Given the description of an element on the screen output the (x, y) to click on. 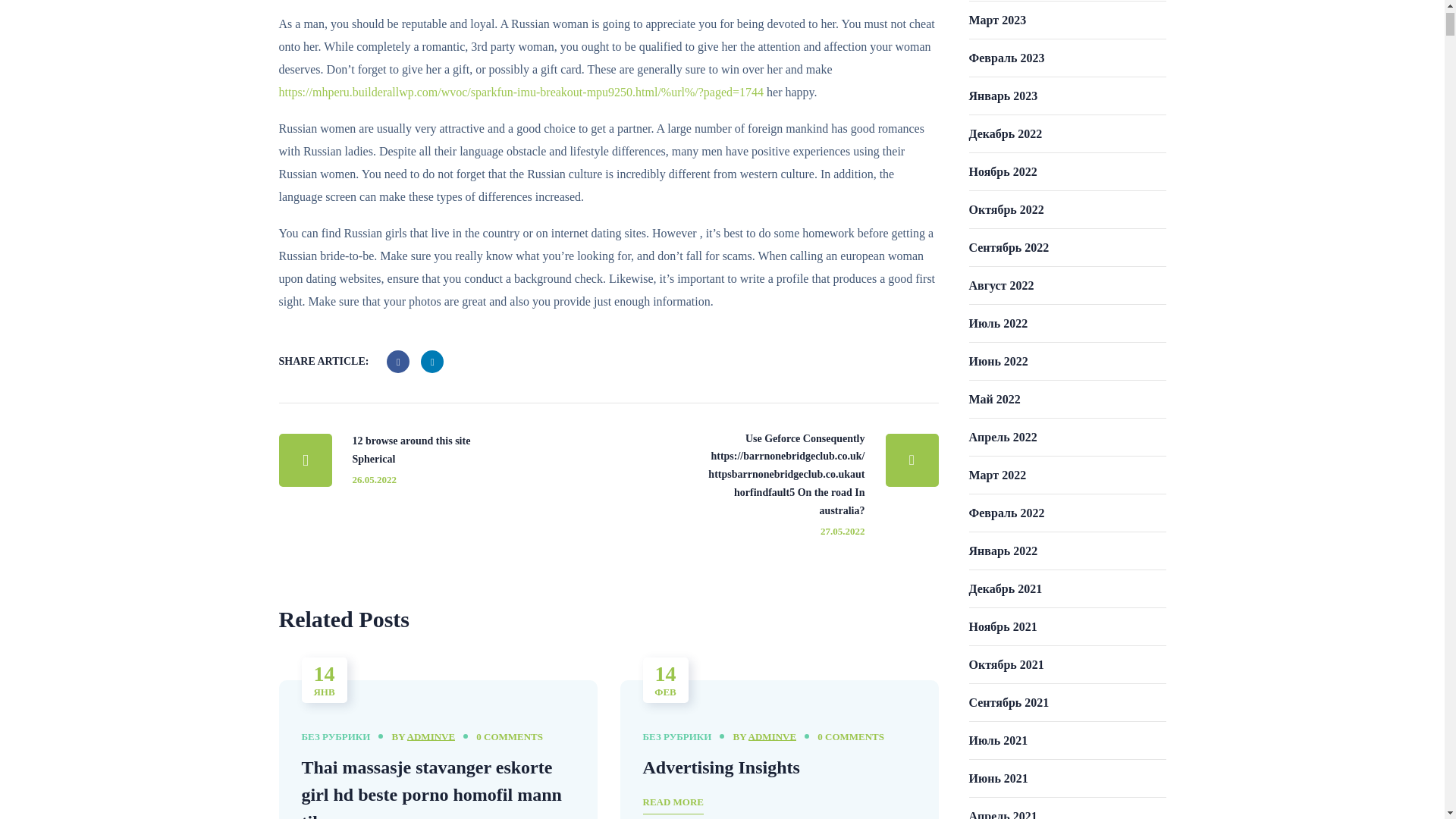
Leave a reply (849, 736)
Advertising Insights (721, 767)
ADMINVE (431, 736)
ADMINVE (772, 736)
12 browse around this site Spherical (419, 460)
READ MORE (673, 803)
Leave a reply (509, 736)
0 COMMENTS (419, 460)
